Given the description of an element on the screen output the (x, y) to click on. 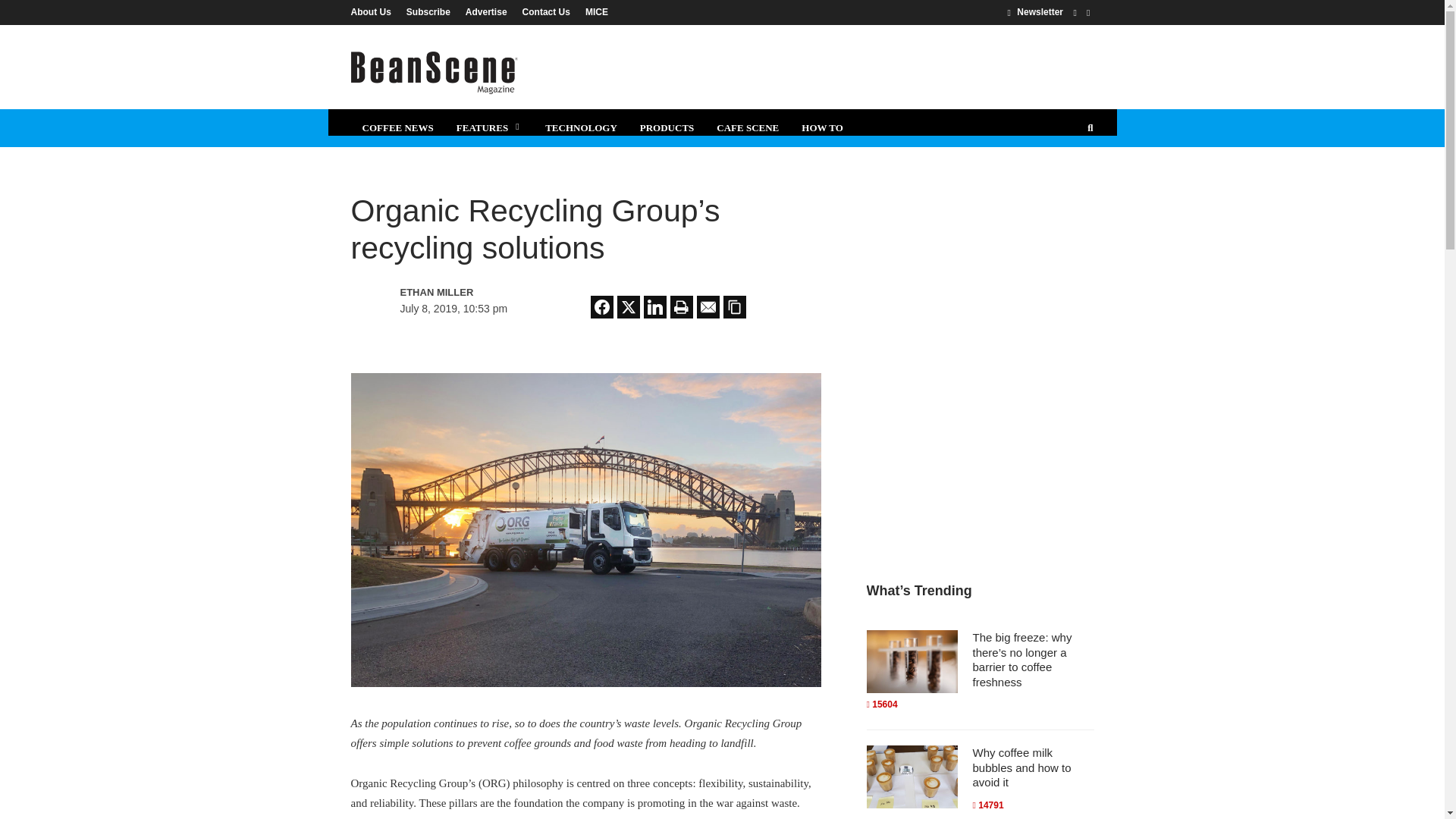
Share on Twitter (628, 306)
MICE (593, 11)
CAFE SCENE (747, 127)
COFFEE NEWS (397, 127)
PRODUCTS (667, 127)
Share on Print (681, 306)
Advertise (486, 11)
Newsletter (1034, 11)
Contact Us (546, 11)
Share on LinkedIn (654, 306)
